Given the description of an element on the screen output the (x, y) to click on. 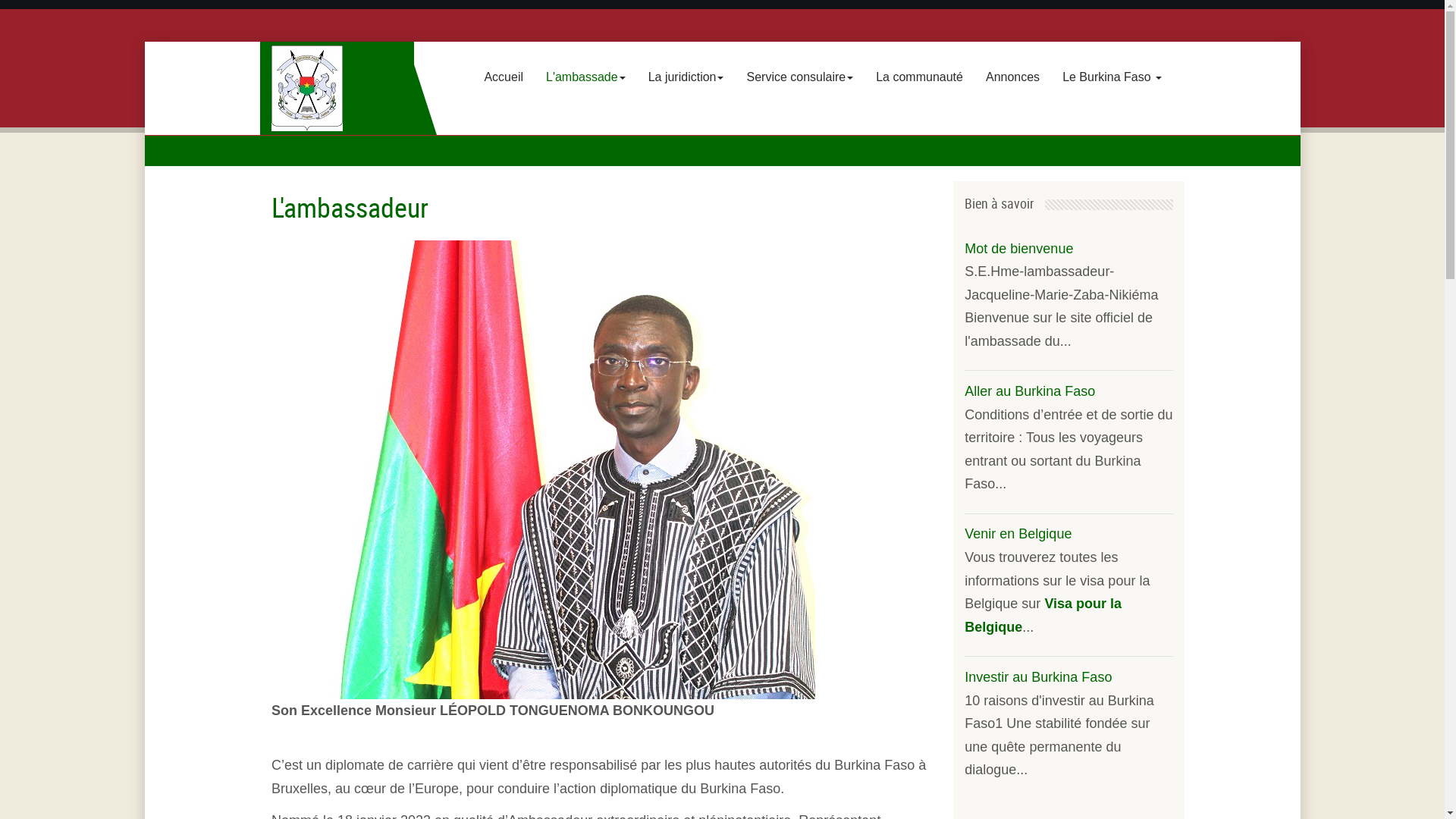
Aller au Burkina Faso Element type: text (1029, 390)
Visa pour la Belgique Element type: text (1042, 615)
Investir au Burkina Faso Element type: text (1037, 676)
L'ambassadeur Element type: text (349, 206)
Annonces Element type: text (1012, 76)
Le Burkina Faso Element type: text (1112, 76)
Accueil Element type: text (503, 76)
Mot de bienvenue Element type: text (1018, 248)
Venir en Belgique Element type: text (1017, 533)
